Given the description of an element on the screen output the (x, y) to click on. 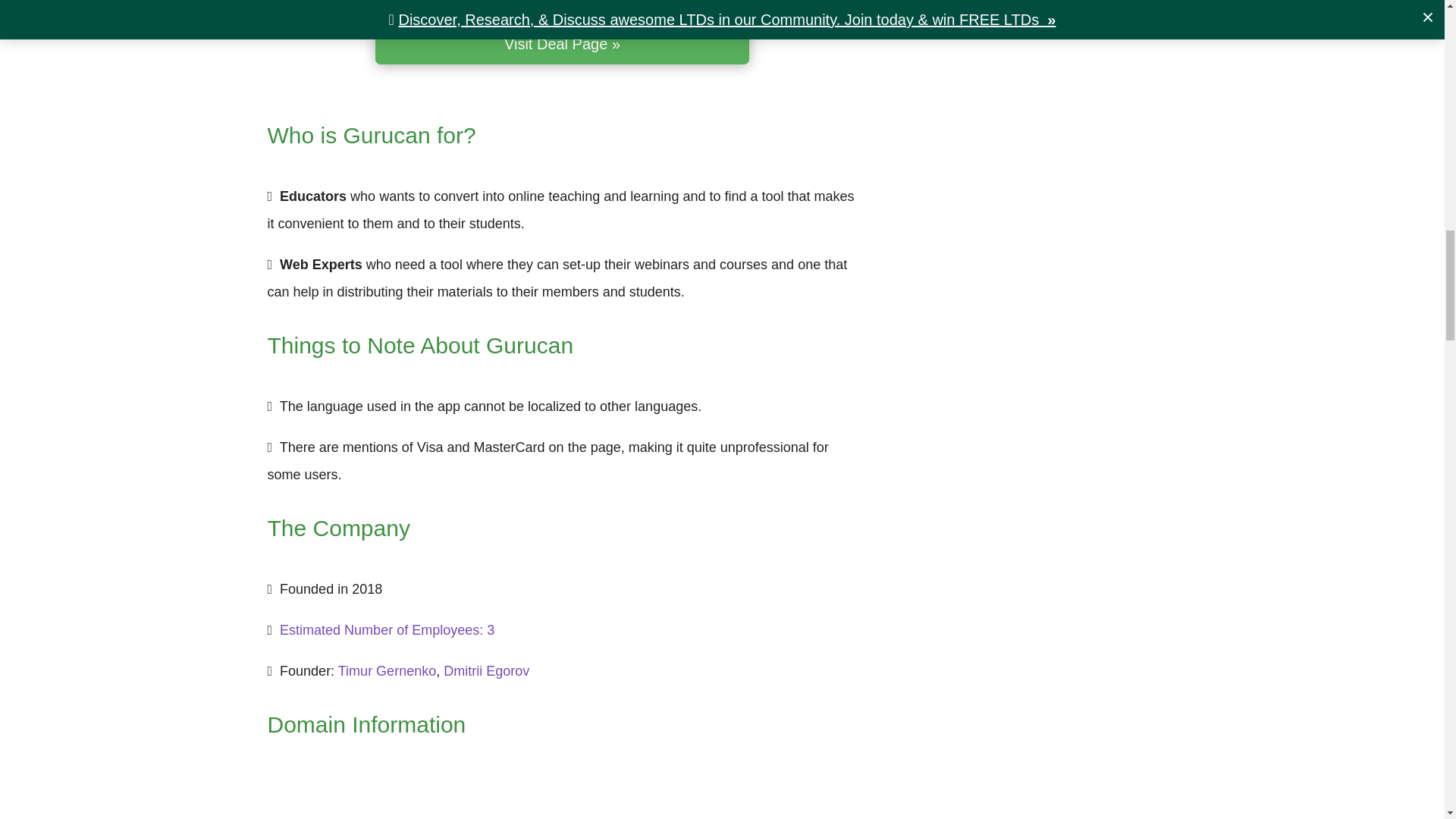
Estimated Number of Employees: 3 (387, 630)
Dmitrii Egorov (486, 670)
Timur Gernenko (386, 670)
Gurucan-domain (538, 795)
